Given the description of an element on the screen output the (x, y) to click on. 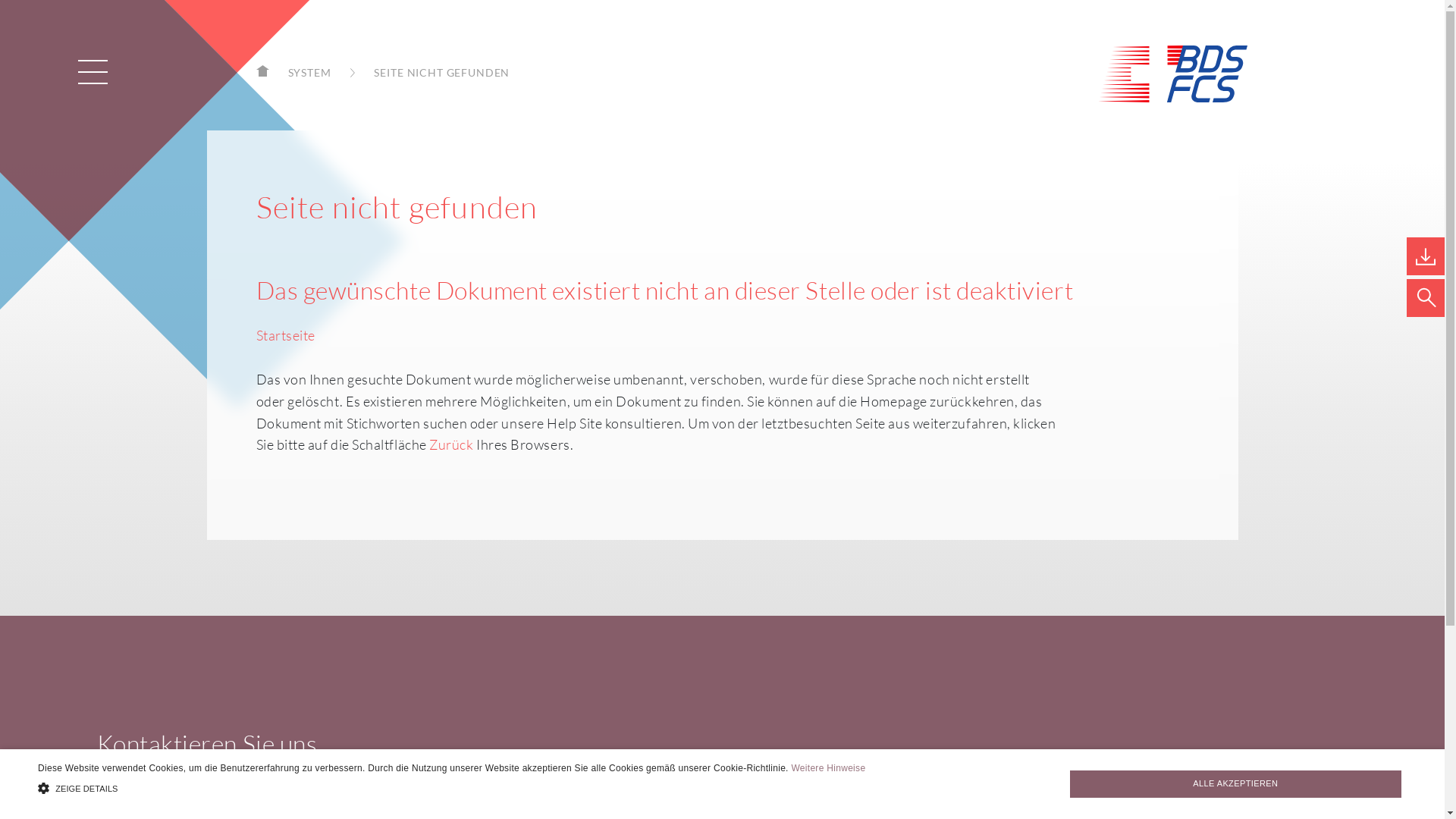
SEITE NICHT GEFUNDEN Element type: text (437, 71)
Open Menu Element type: hover (92, 71)
Startseite Element type: text (285, 334)
SYSTEM Element type: text (323, 71)
Weitere Hinweise Element type: text (827, 767)
BDS FCS Element type: hover (1172, 73)
